Given the description of an element on the screen output the (x, y) to click on. 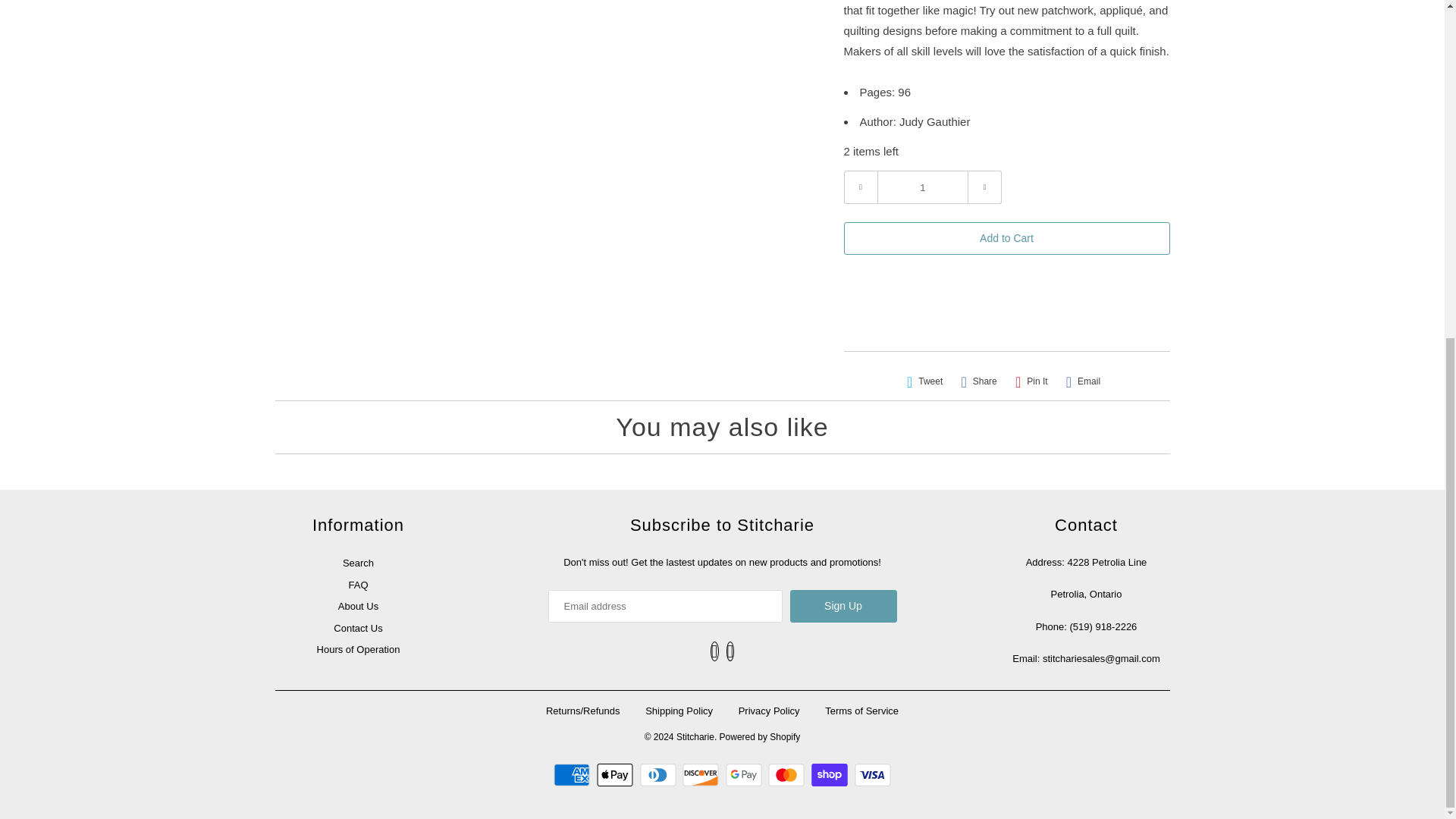
Apple Pay (616, 774)
Email this to a friend (1083, 381)
Shop Pay (830, 774)
Share this on Facebook (978, 381)
Discover (702, 774)
Stitcharie on Instagram (730, 650)
Mastercard (788, 774)
Diners Club (659, 774)
1 (922, 186)
Google Pay (745, 774)
American Express (573, 774)
Sign Up (843, 605)
Visa (872, 774)
Share this on Twitter (924, 381)
Share this on Pinterest (1031, 381)
